Given the description of an element on the screen output the (x, y) to click on. 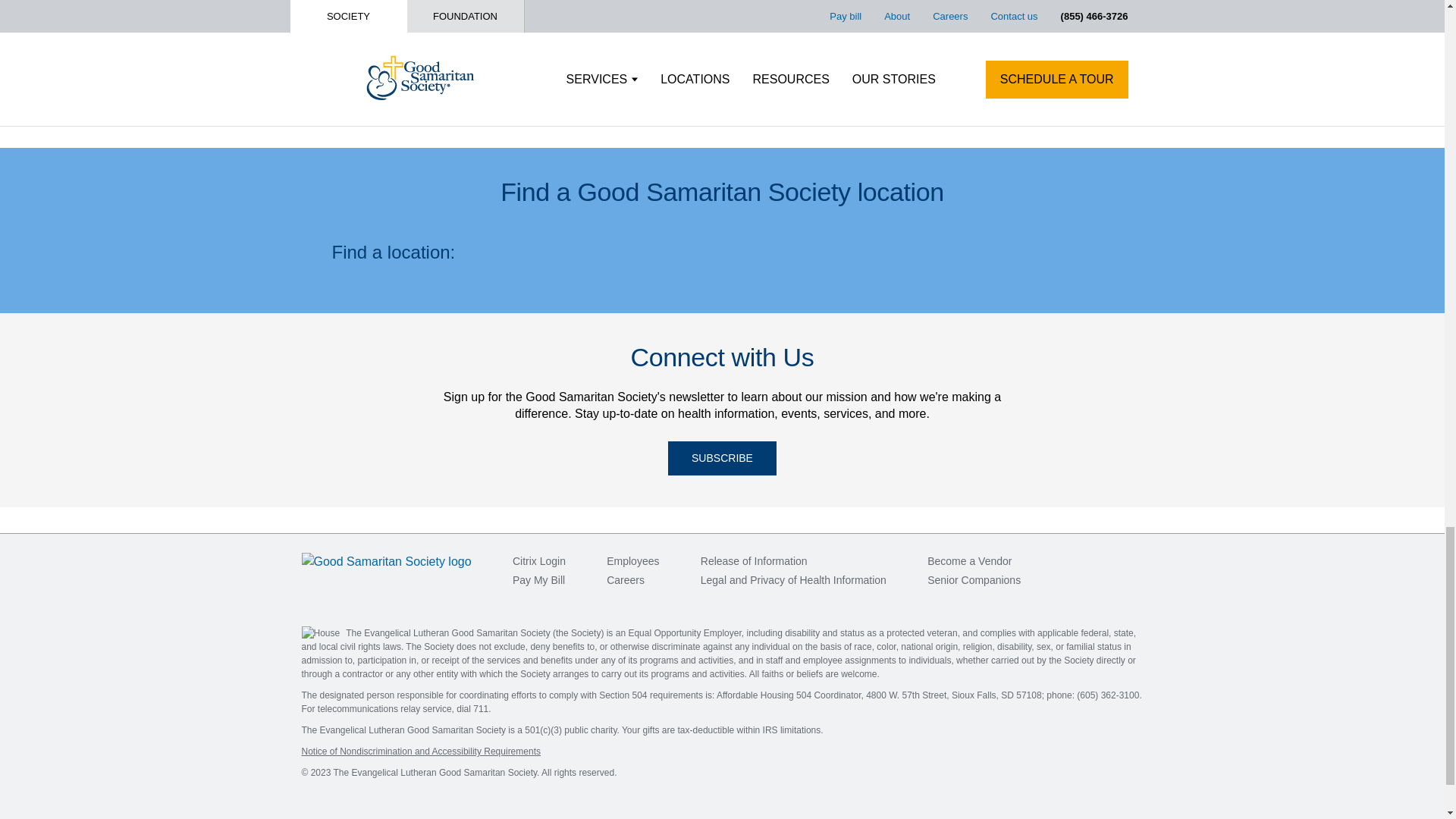
Dedicated husband, volunteer perks up long-term care center (799, 30)
linkedin link (1102, 561)
Volunteers touch 1,000 hearts (487, 12)
facebook link (1070, 561)
House (320, 632)
SUBSCRIBE (722, 458)
youtube link (1133, 561)
Dedicated husband, volunteer perks up long-term care center (799, 0)
